Given the description of an element on the screen output the (x, y) to click on. 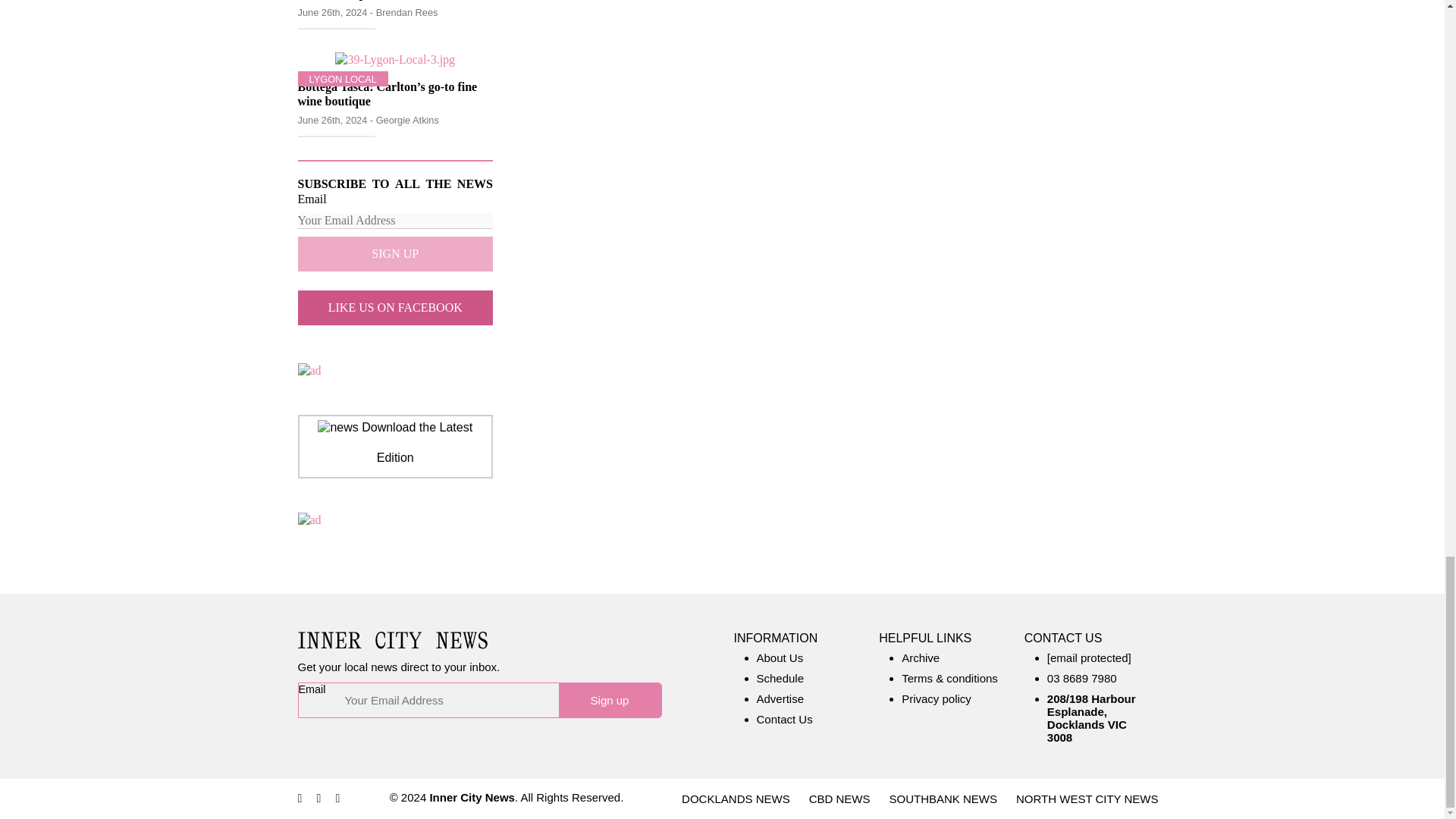
Twitter (338, 798)
LYGON LOCAL (342, 78)
Facebook (299, 798)
Instagram (319, 798)
Download the Latest Edition (394, 443)
SIGN UP (395, 253)
LIKE US ON FACEBOOK (395, 307)
